Given the description of an element on the screen output the (x, y) to click on. 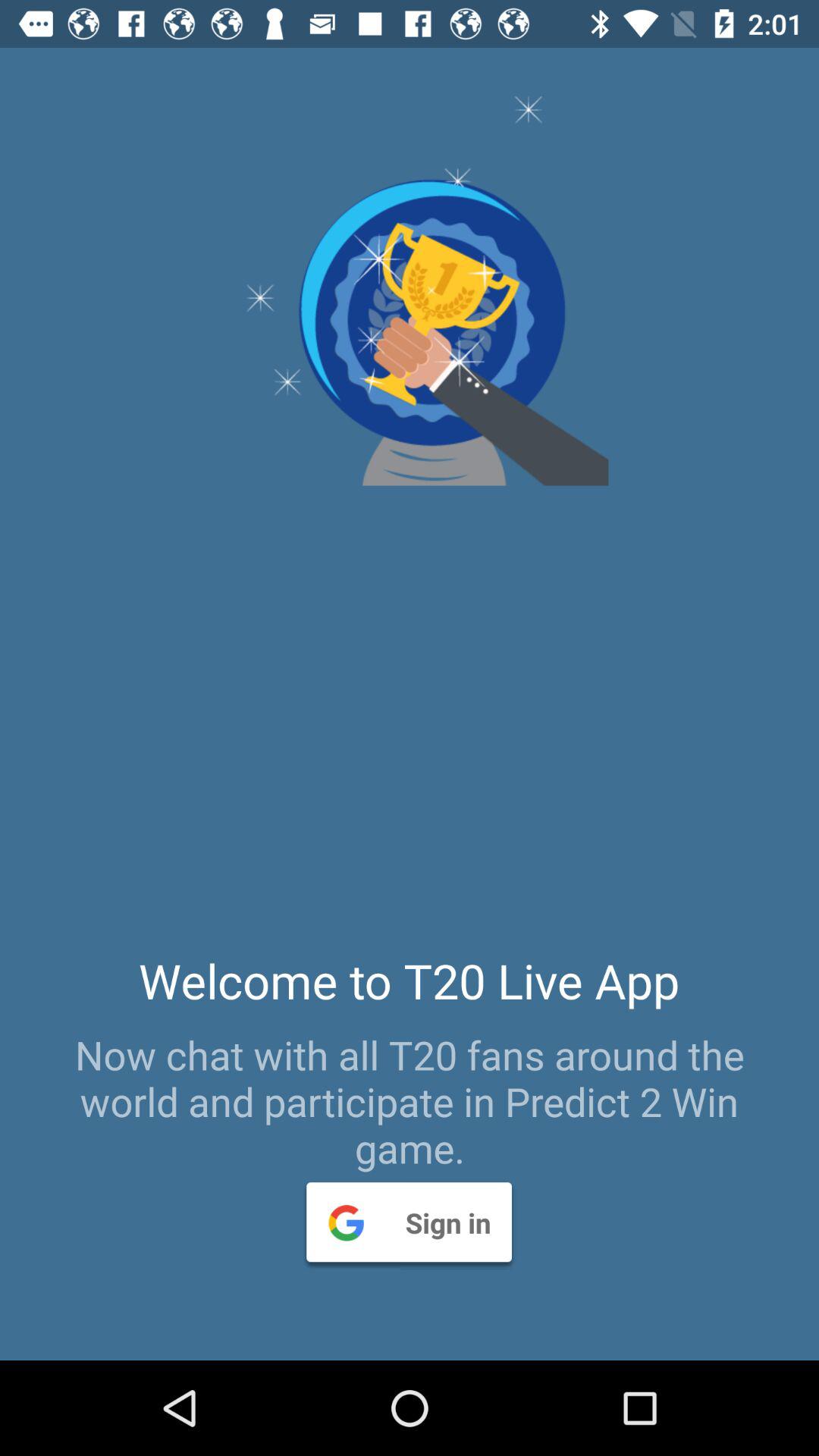
turn on the item below the now chat with item (408, 1222)
